Given the description of an element on the screen output the (x, y) to click on. 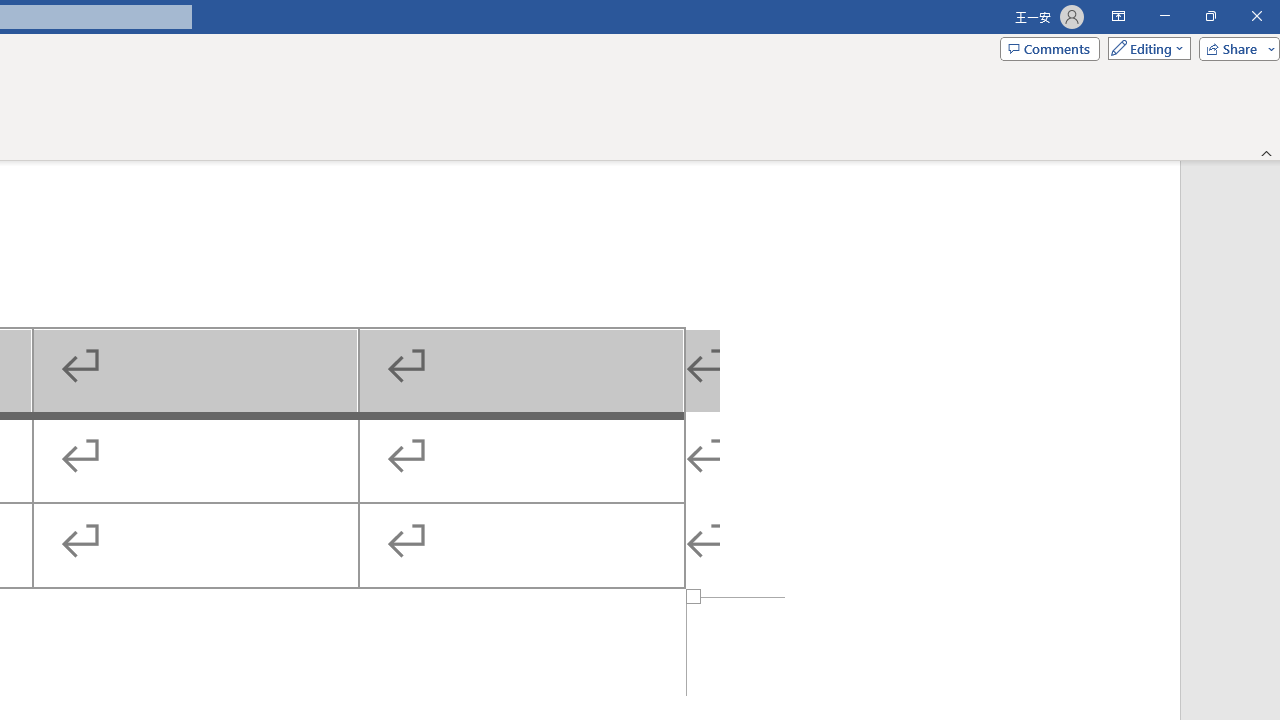
Editing (1144, 47)
